Given the description of an element on the screen output the (x, y) to click on. 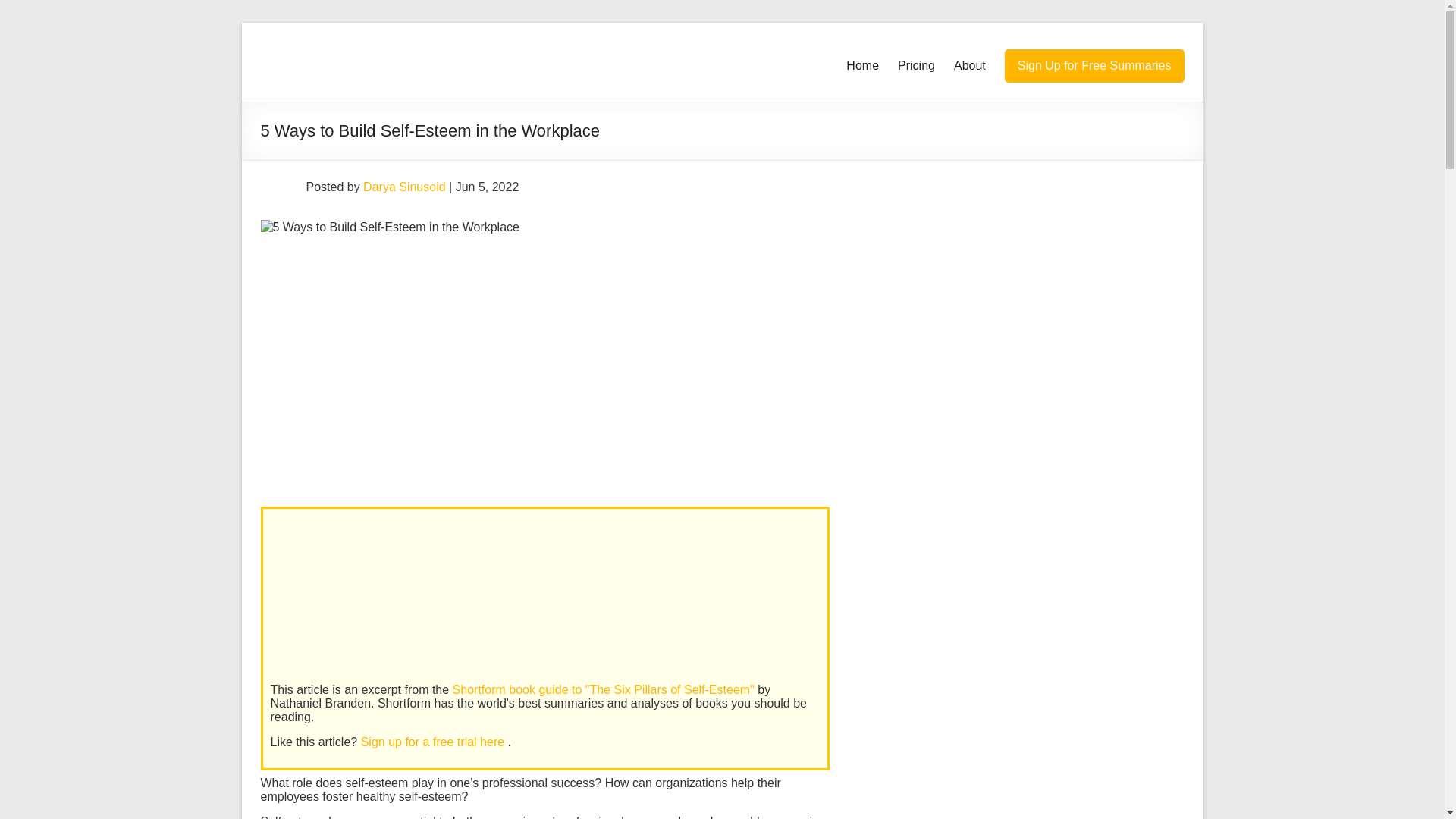
About (969, 65)
Pricing (916, 65)
Sign Up for Free Summaries (1094, 65)
Darya Sinusoid (403, 186)
Sign up for a free trial here (434, 741)
Home (862, 65)
Shortform book guide to "The Six Pillars of Self-Esteem" (605, 689)
